Given the description of an element on the screen output the (x, y) to click on. 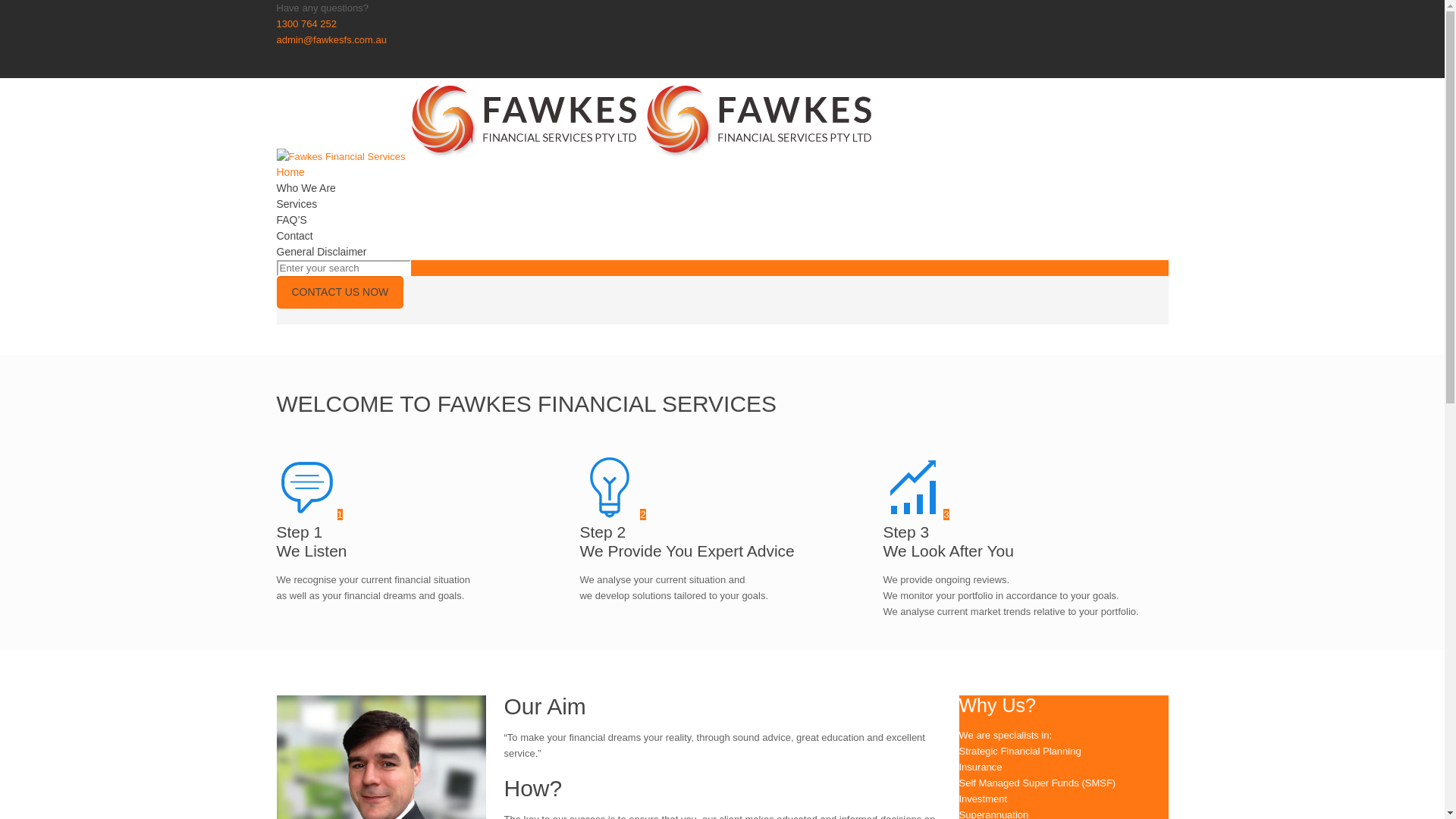
admin@fawkesfs.com.au Element type: text (330, 39)
Services Element type: text (296, 203)
General Disclaimer Element type: text (321, 251)
Who We Are Element type: text (305, 188)
Fawkes Financial Services Element type: hover (575, 156)
Contact Element type: text (294, 235)
CONTACT US NOW Element type: text (339, 292)
1300 764 252 Element type: text (306, 23)
Home Element type: text (290, 172)
